Given the description of an element on the screen output the (x, y) to click on. 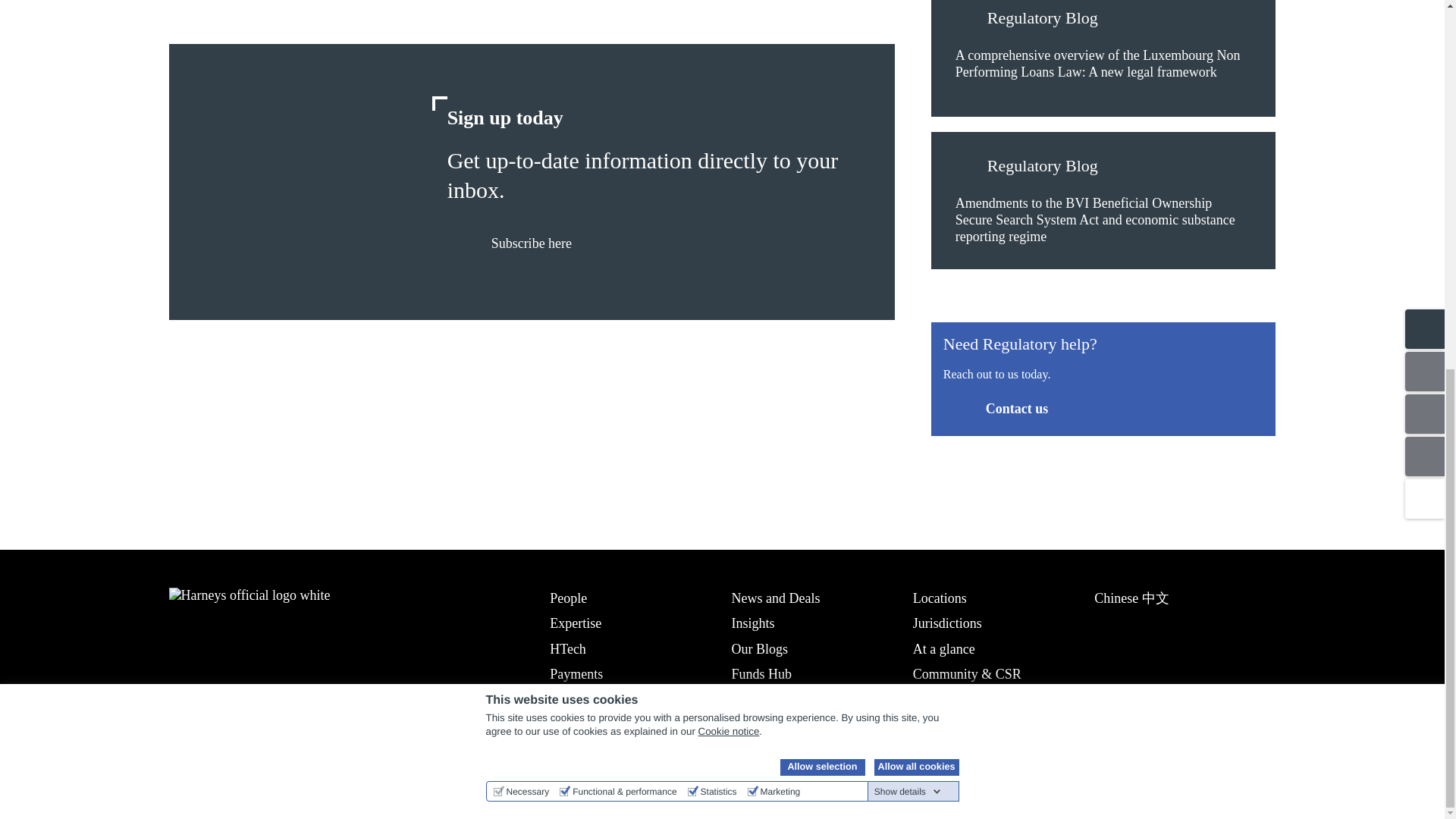
blogs (967, 168)
x (219, 757)
Allow all cookies (915, 98)
linkedIn (180, 757)
Show details (906, 123)
blogs (967, 20)
Allow selection (821, 98)
Cookie notice (729, 62)
